Given the description of an element on the screen output the (x, y) to click on. 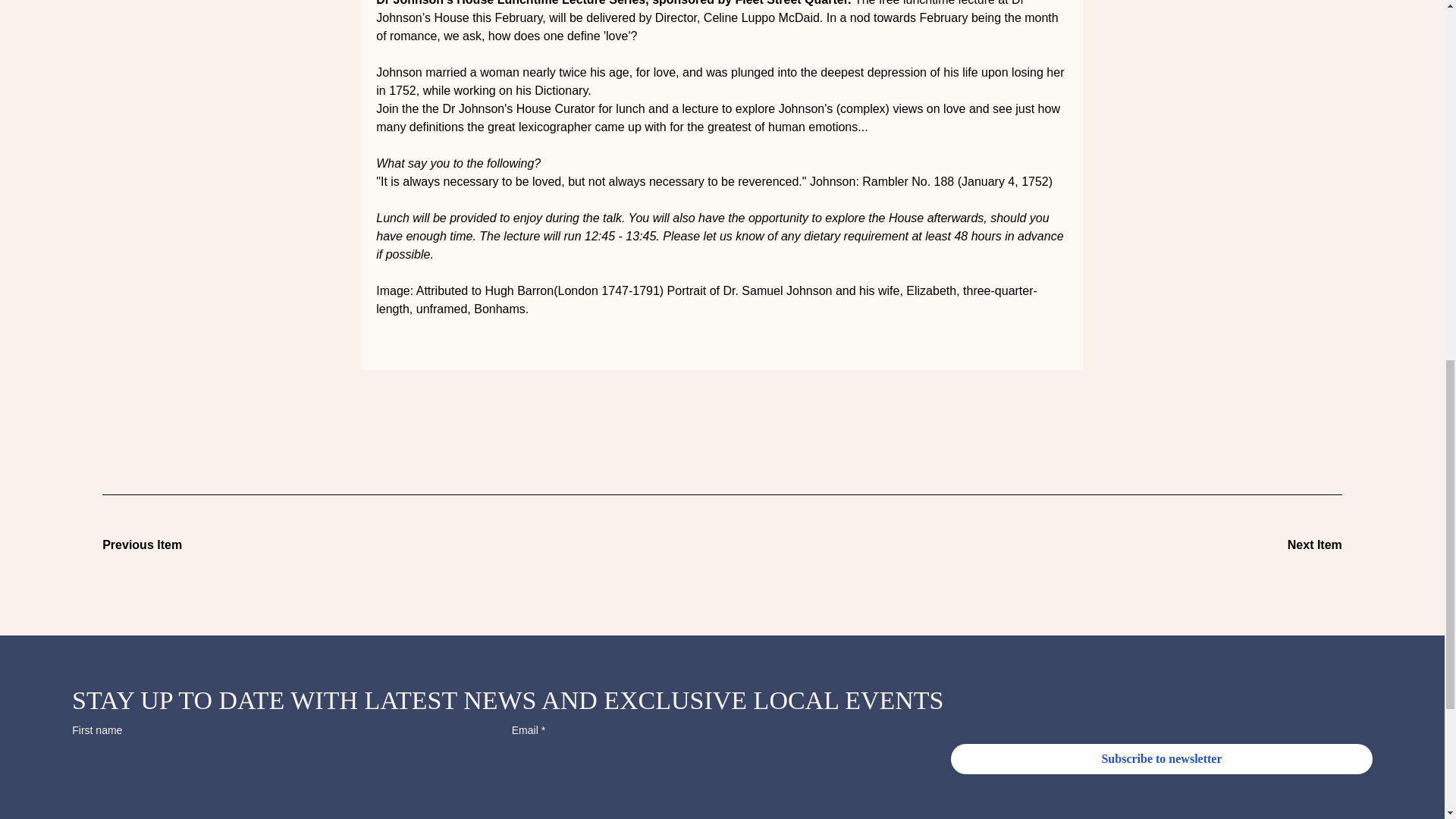
Previous Item (155, 544)
Next Item (1288, 544)
Subscribe to newsletter (1161, 758)
